Given the description of an element on the screen output the (x, y) to click on. 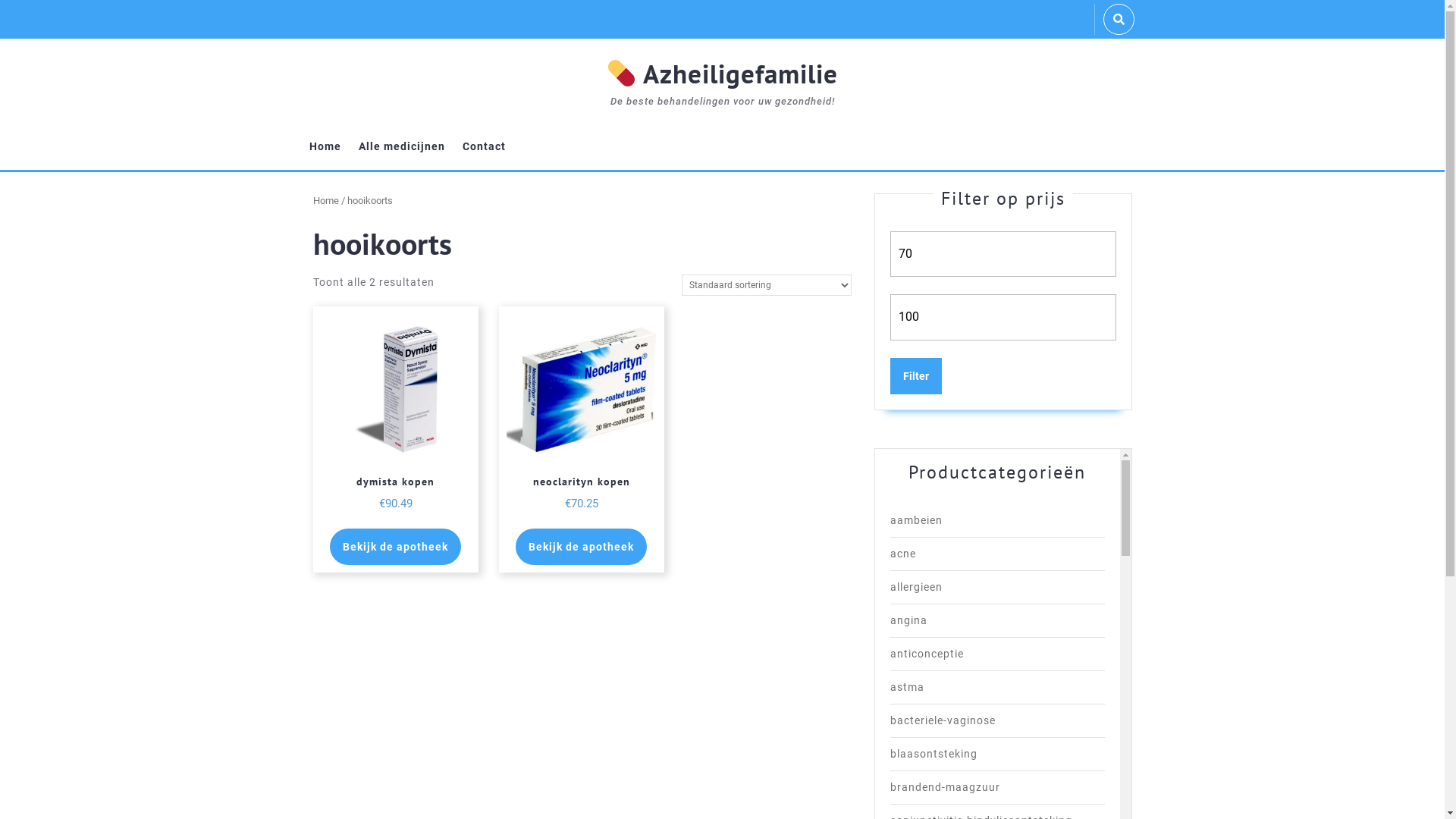
Home Element type: text (325, 200)
bacteriele-vaginose Element type: text (942, 720)
aambeien Element type: text (916, 520)
Azheiligefamilie Element type: text (722, 73)
astma Element type: text (907, 686)
Filter Element type: text (915, 375)
brandend-maagzuur Element type: text (945, 787)
Contact Element type: text (484, 146)
allergieen Element type: text (916, 586)
angina Element type: text (908, 620)
Alle medicijnen Element type: text (400, 146)
Bekijk de apotheek Element type: text (395, 546)
blaasontsteking Element type: text (933, 753)
Home Element type: text (324, 146)
Bekijk de apotheek Element type: text (580, 546)
anticonceptie Element type: text (926, 653)
acne Element type: text (903, 553)
